Given the description of an element on the screen output the (x, y) to click on. 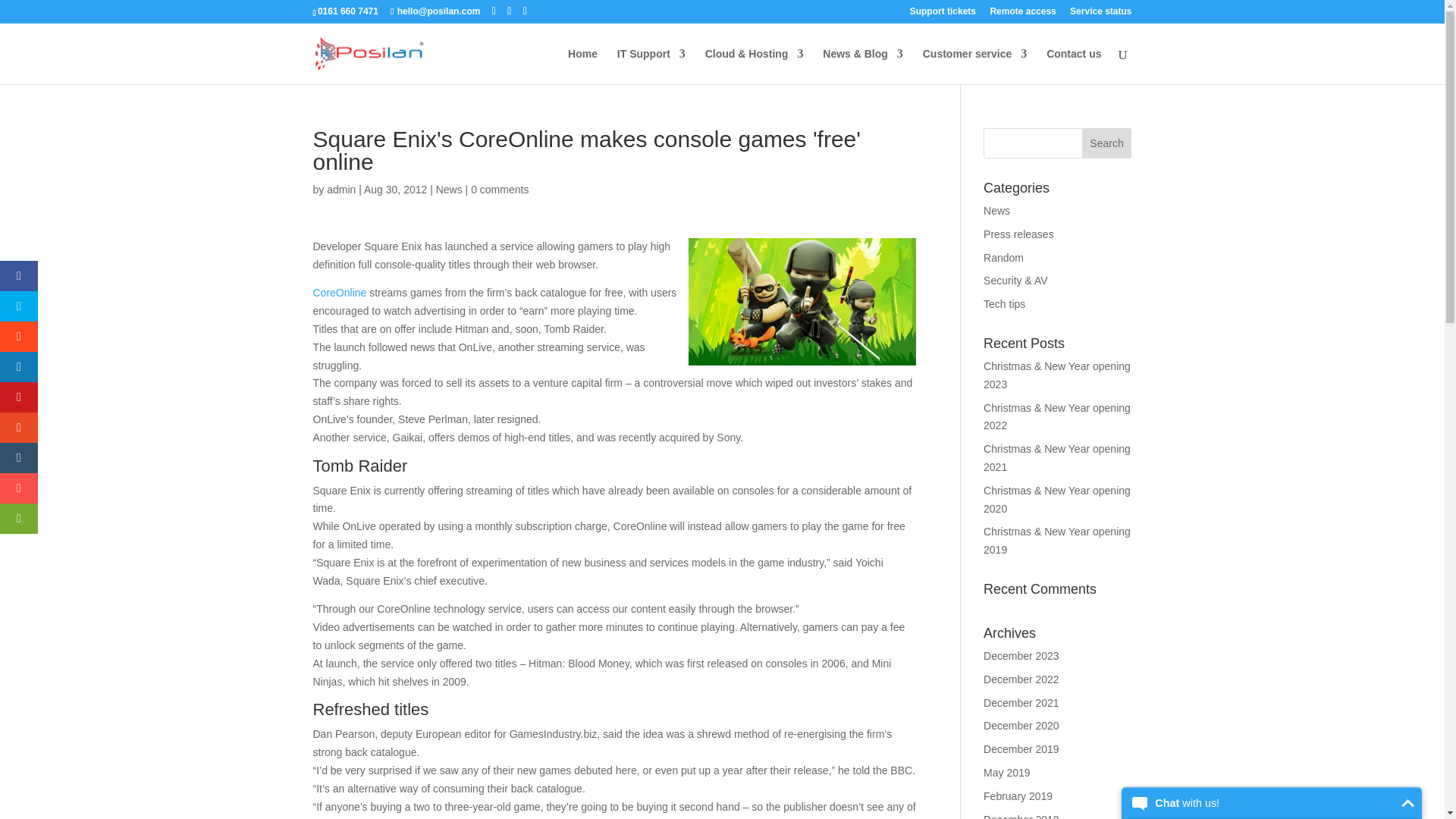
Mini Ninjas (801, 301)
Support tickets (942, 14)
IT Support (651, 66)
Customer service (975, 66)
Posts by admin (340, 189)
Remote access (1022, 14)
Service status (1100, 14)
Search (1106, 142)
